Given the description of an element on the screen output the (x, y) to click on. 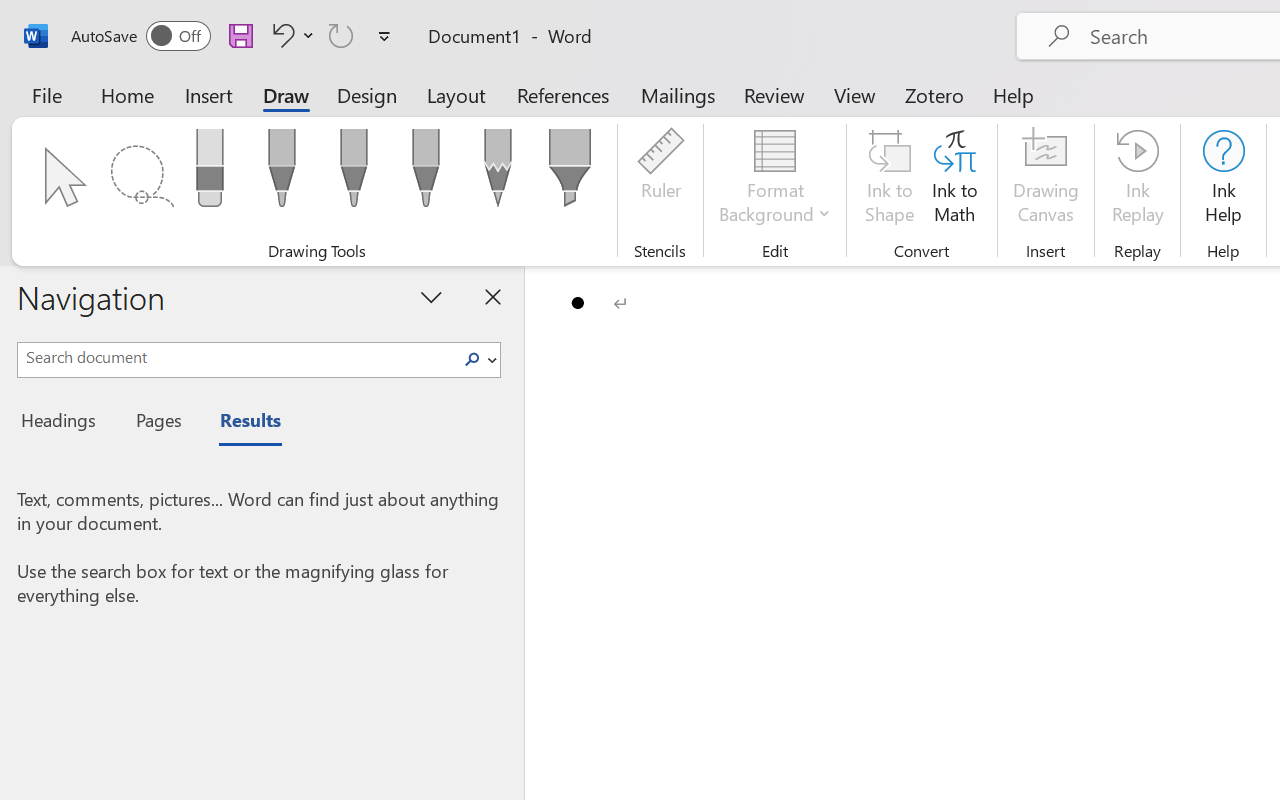
Headings (64, 423)
Drawing Canvas (1045, 179)
Undo Bullet Default (290, 35)
Highlighter: Yellow, 6 mm (569, 173)
Ink Help (1223, 179)
